Given the description of an element on the screen output the (x, y) to click on. 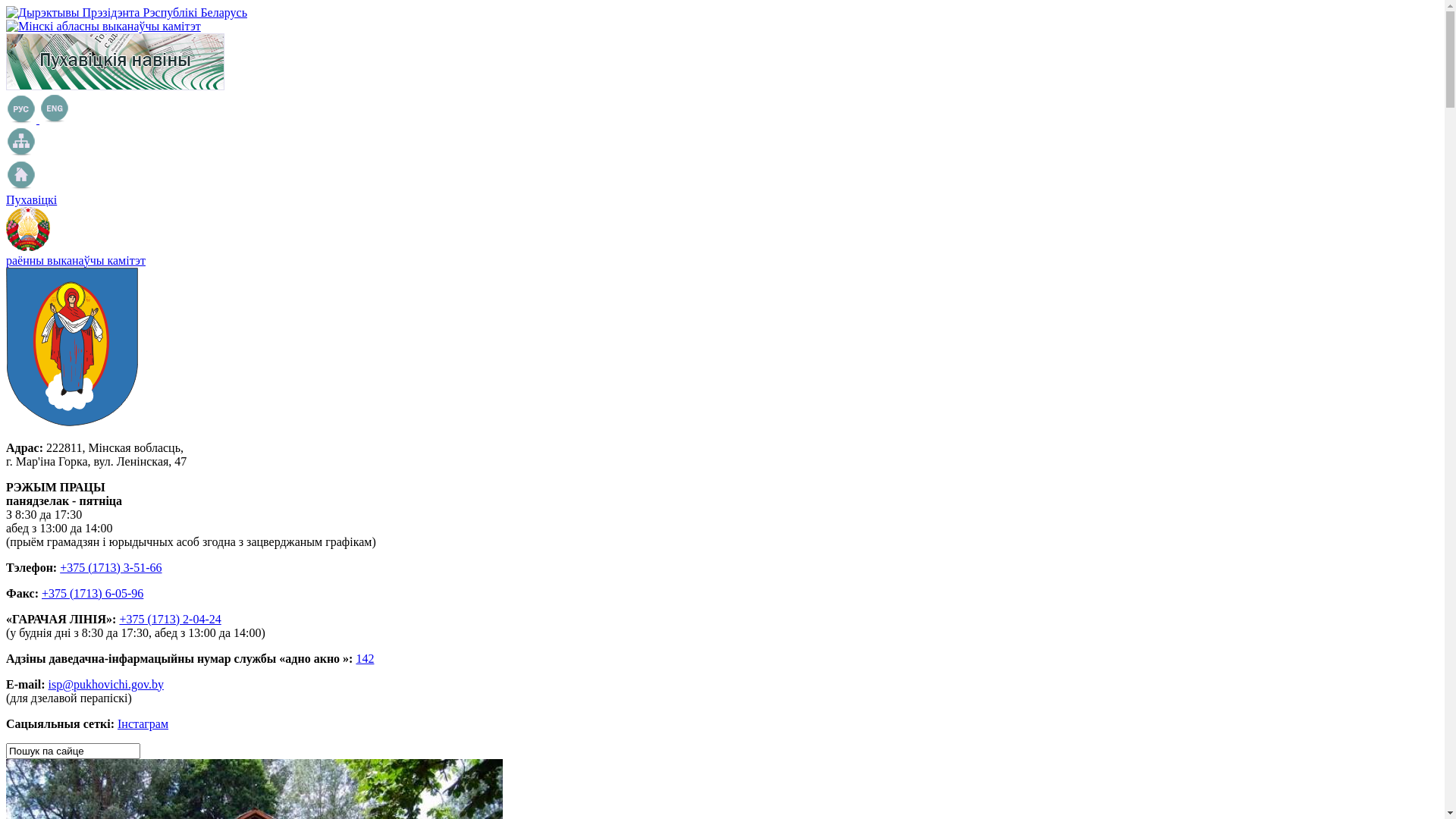
+375 (1713) 2-04-24 Element type: text (169, 618)
ENG Element type: hover (54, 108)
+375 (1713) 6-05-96 Element type: text (92, 592)
+375 (1713) 3-51-66 Element type: text (110, 567)
isp@pukhovichi.gov.by Element type: text (105, 683)
142 Element type: text (364, 658)
